Given the description of an element on the screen output the (x, y) to click on. 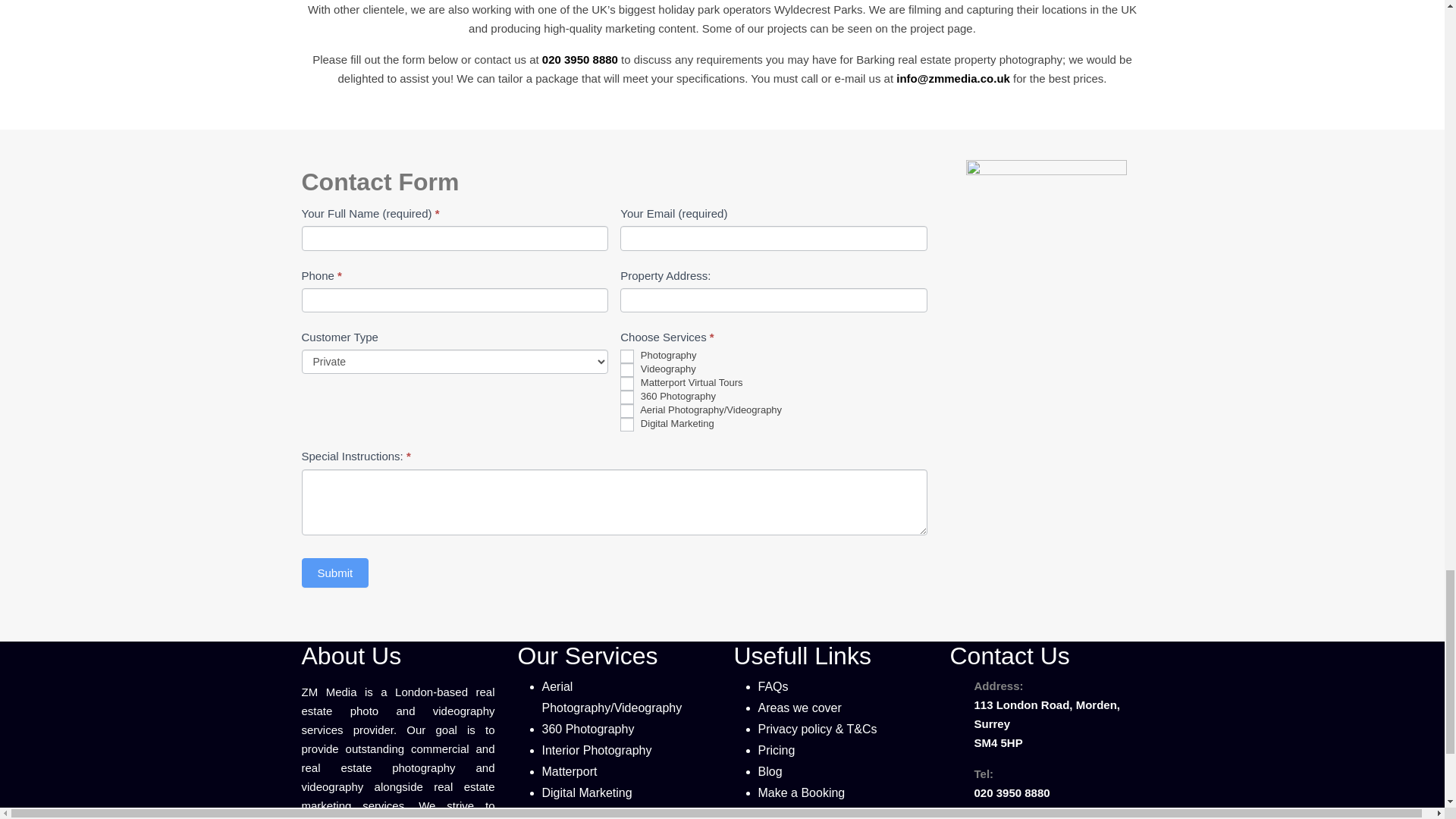
Photography (626, 356)
Digital Marketing (626, 424)
Videography (626, 369)
360 Photography (626, 397)
Matterport Virtual Tours (626, 383)
